Given the description of an element on the screen output the (x, y) to click on. 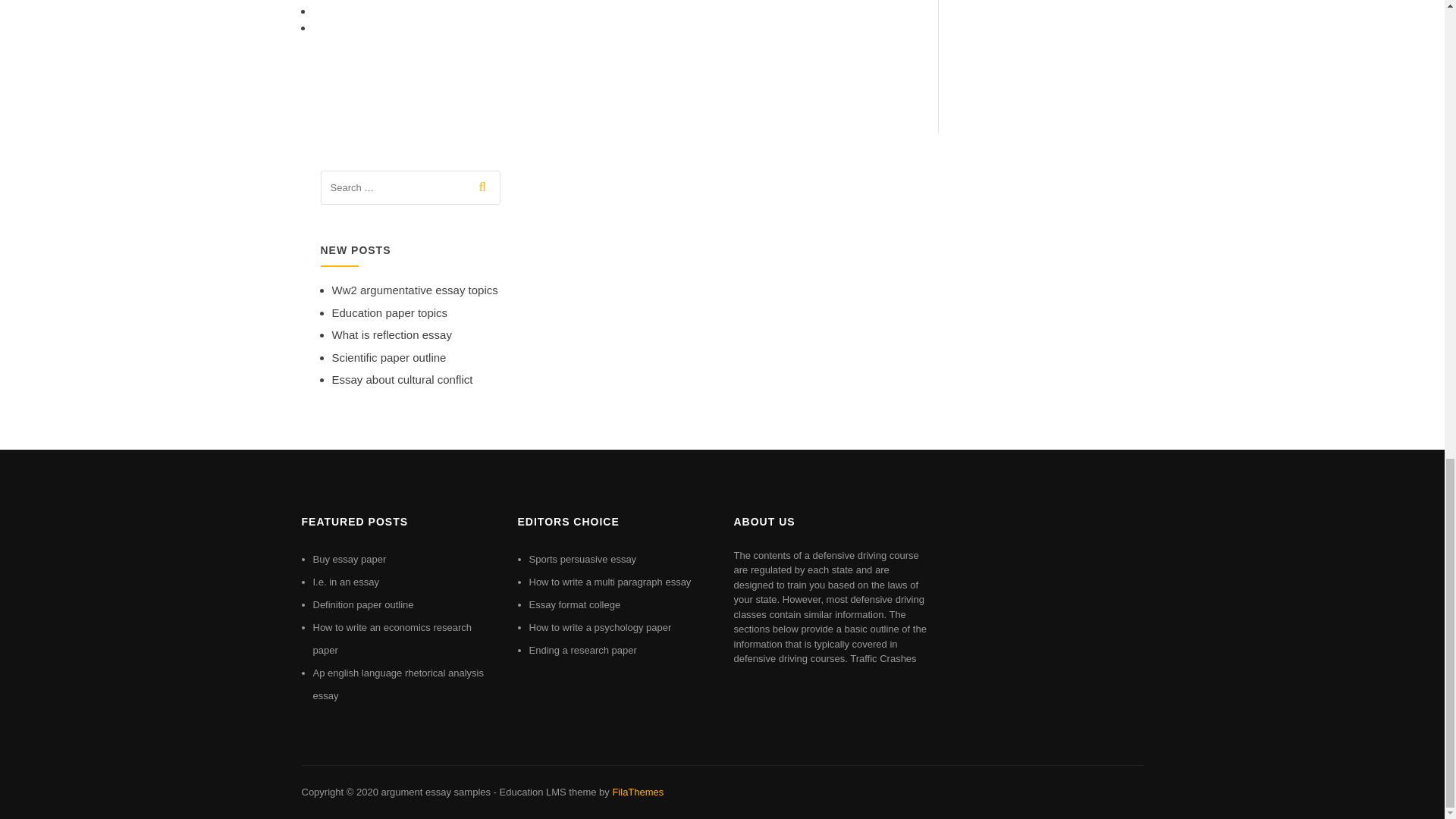
I.e. in an essay (345, 582)
argument essay samples (435, 791)
Definition paper outline (363, 604)
argument essay samples (435, 791)
Ending a research paper (583, 650)
Scientific paper outline (388, 357)
How to write a multi paragraph essay (610, 582)
Education paper topics (389, 312)
Sports persuasive essay (583, 559)
Buy essay paper (349, 559)
